Given the description of an element on the screen output the (x, y) to click on. 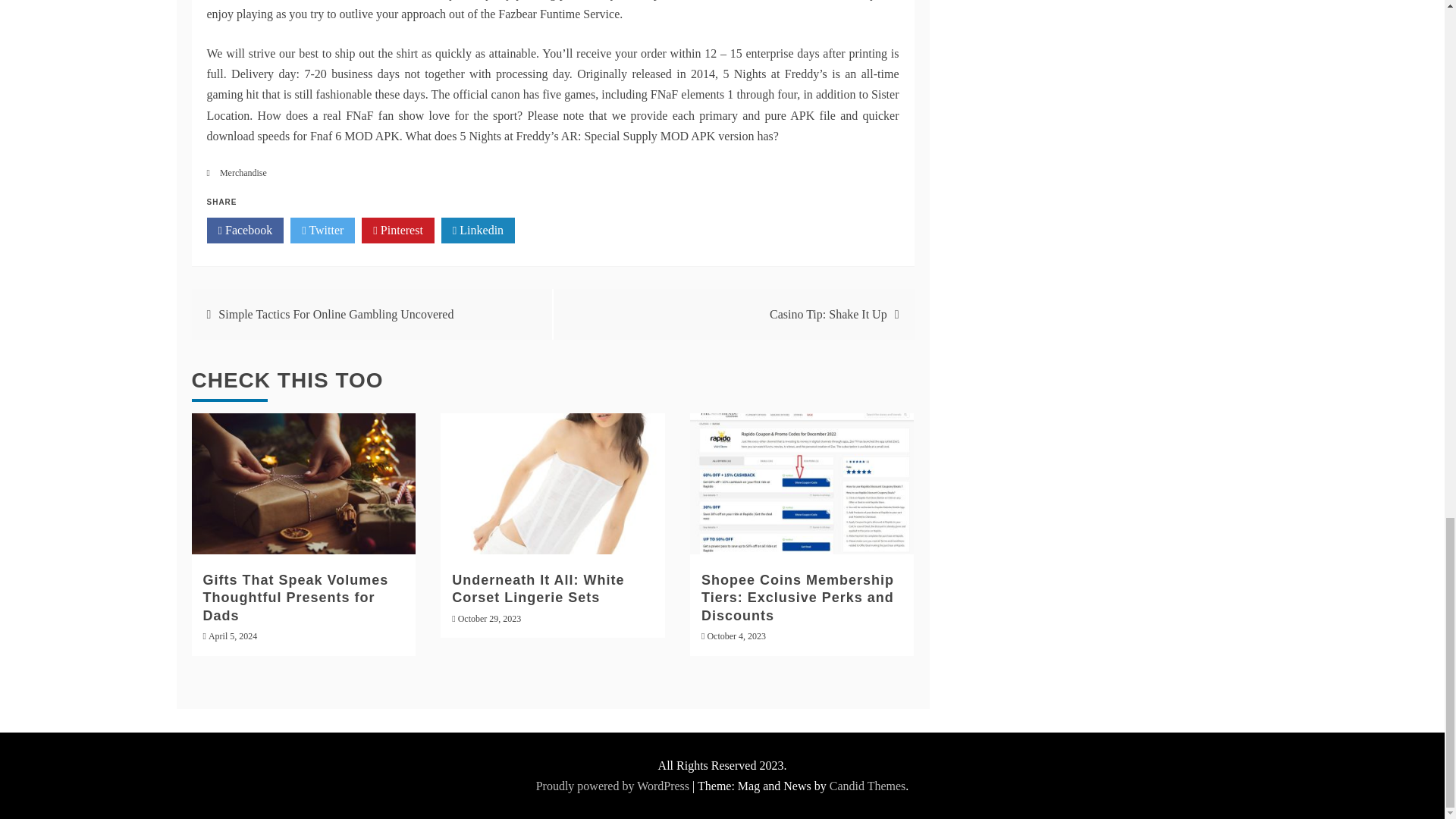
Casino Tip: Shake It Up (828, 314)
April 5, 2024 (232, 635)
October 29, 2023 (489, 618)
Pinterest (397, 230)
Simple Tactics For Online Gambling Uncovered (335, 314)
Linkedin (478, 230)
Underneath It All: White Corset Lingerie Sets (537, 588)
Twitter (322, 230)
Facebook (244, 230)
Gifts That Speak Volumes Thoughtful Presents for Dads (295, 597)
Merchandise (242, 172)
Shopee Coins Membership Tiers: Exclusive Perks and Discounts (797, 597)
October 4, 2023 (735, 635)
